Given the description of an element on the screen output the (x, y) to click on. 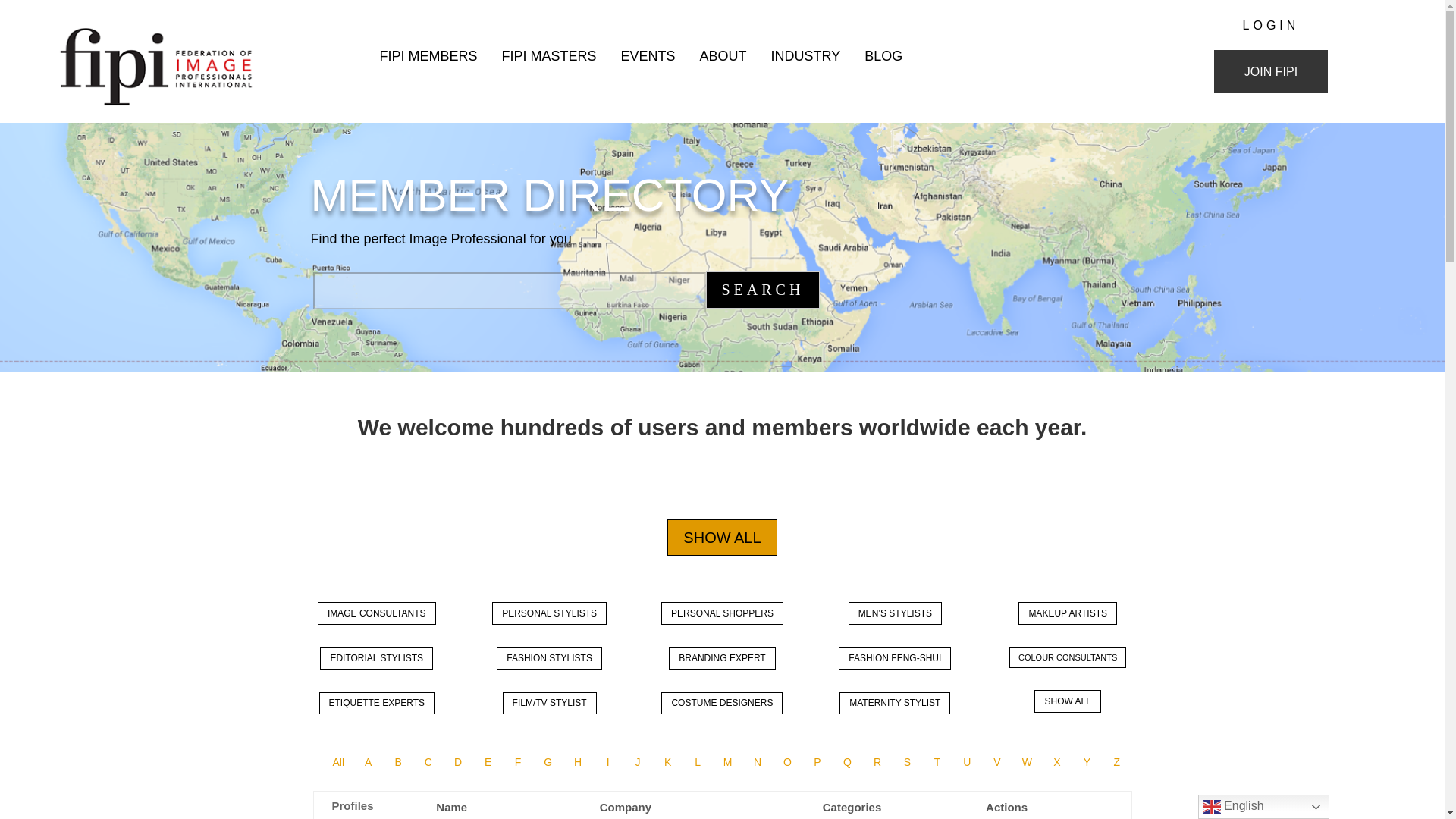
ABOUT (718, 55)
INDUSTRY (802, 55)
BLOG (879, 55)
JOIN FIPI (1270, 71)
FIPI MEMBERS (424, 55)
fipi-logo-header (173, 66)
FIPI MASTERS (544, 55)
Search (761, 290)
Search (761, 290)
EVENTS (643, 55)
LOGIN (1271, 24)
